Given the description of an element on the screen output the (x, y) to click on. 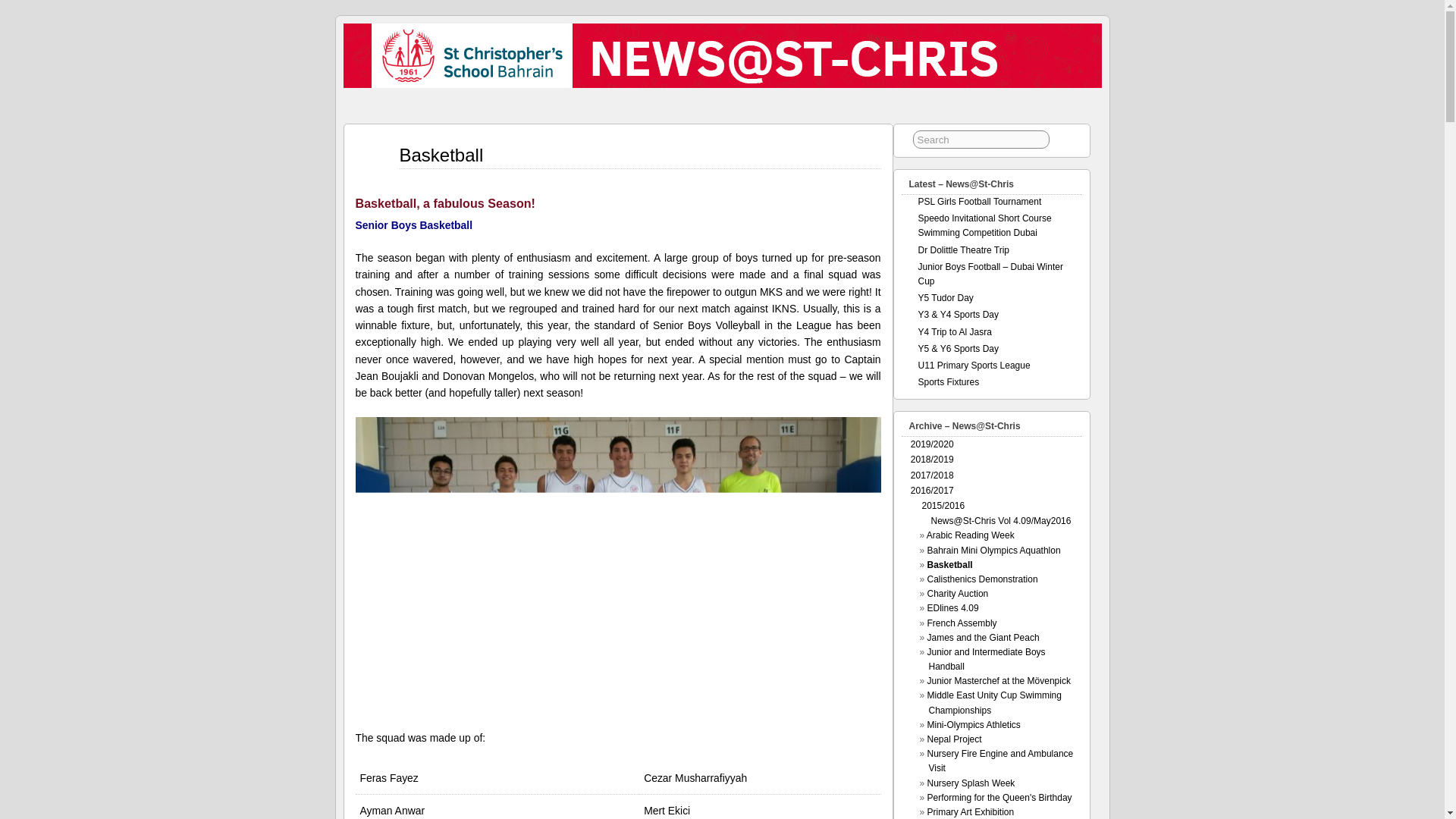
PSL Girls Football Tournament (979, 201)
Sports Fixtures (947, 381)
Dr Dolittle Theatre Trip (963, 249)
Speedo Invitational Short Course Swimming Competition Dubai (984, 225)
Y4 Trip to Al Jasra (954, 330)
Basketball (440, 154)
Search (980, 139)
U11 Primary Sports League (973, 365)
Basketball (440, 154)
Search (980, 139)
Y5 Tudor Day (944, 297)
